Given the description of an element on the screen output the (x, y) to click on. 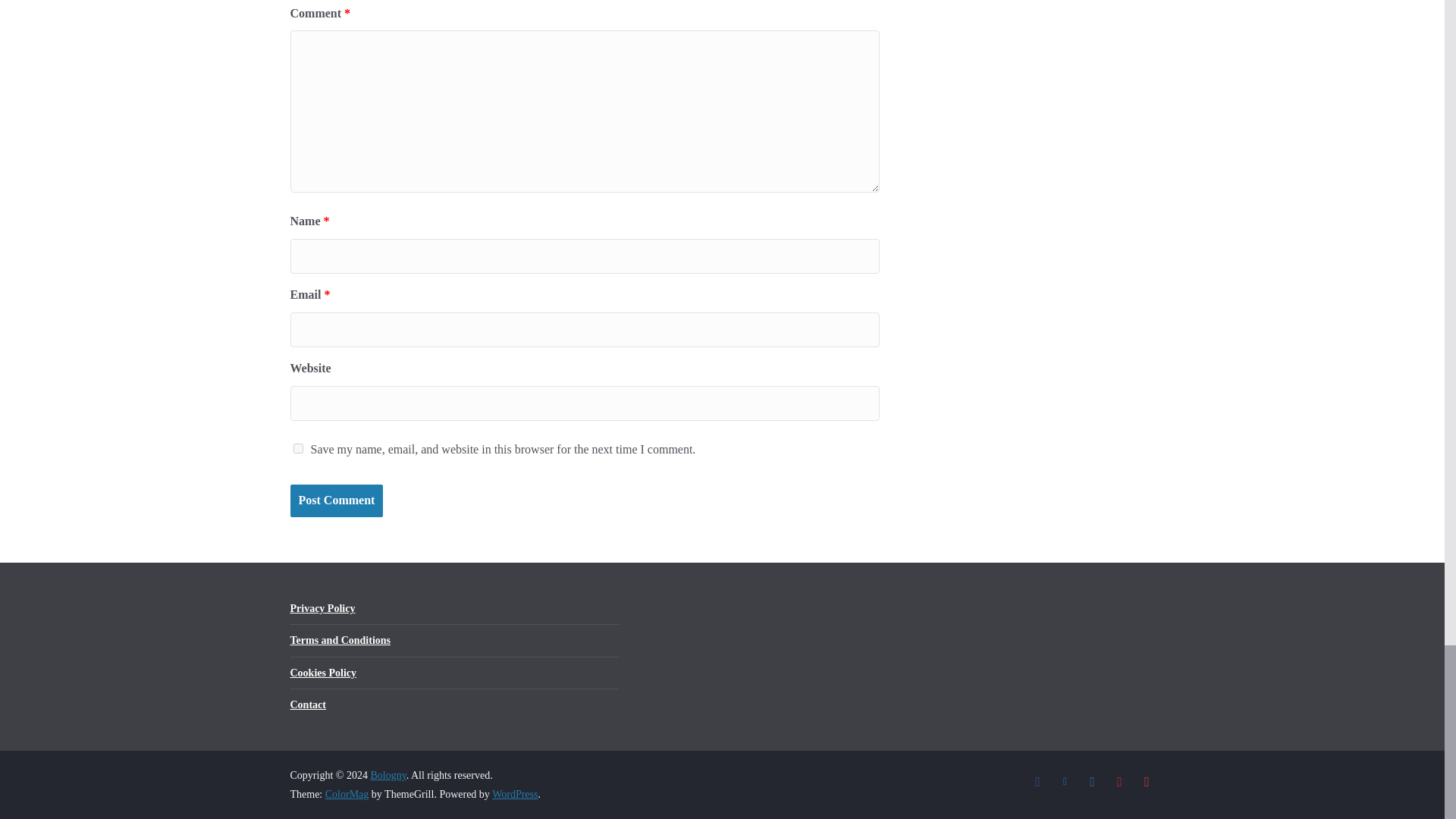
Post Comment (335, 500)
yes (297, 448)
Post Comment (335, 500)
